Given the description of an element on the screen output the (x, y) to click on. 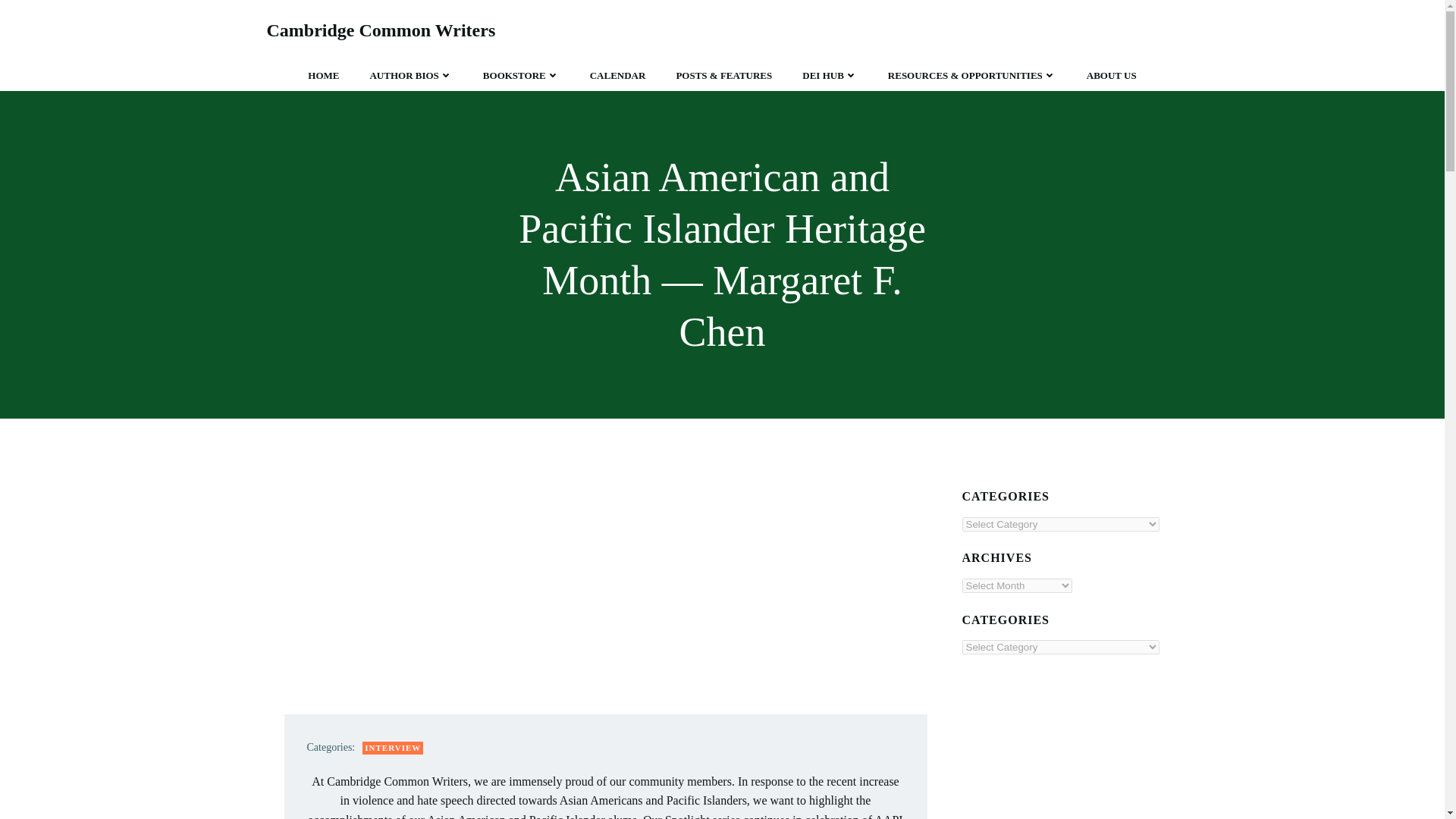
BOOKSTORE (521, 75)
DEI HUB (829, 75)
Cambridge Common Writers (381, 30)
ABOUT US (1111, 75)
HOME (323, 75)
AUTHOR BIOS (410, 75)
CALENDAR (617, 75)
